Given the description of an element on the screen output the (x, y) to click on. 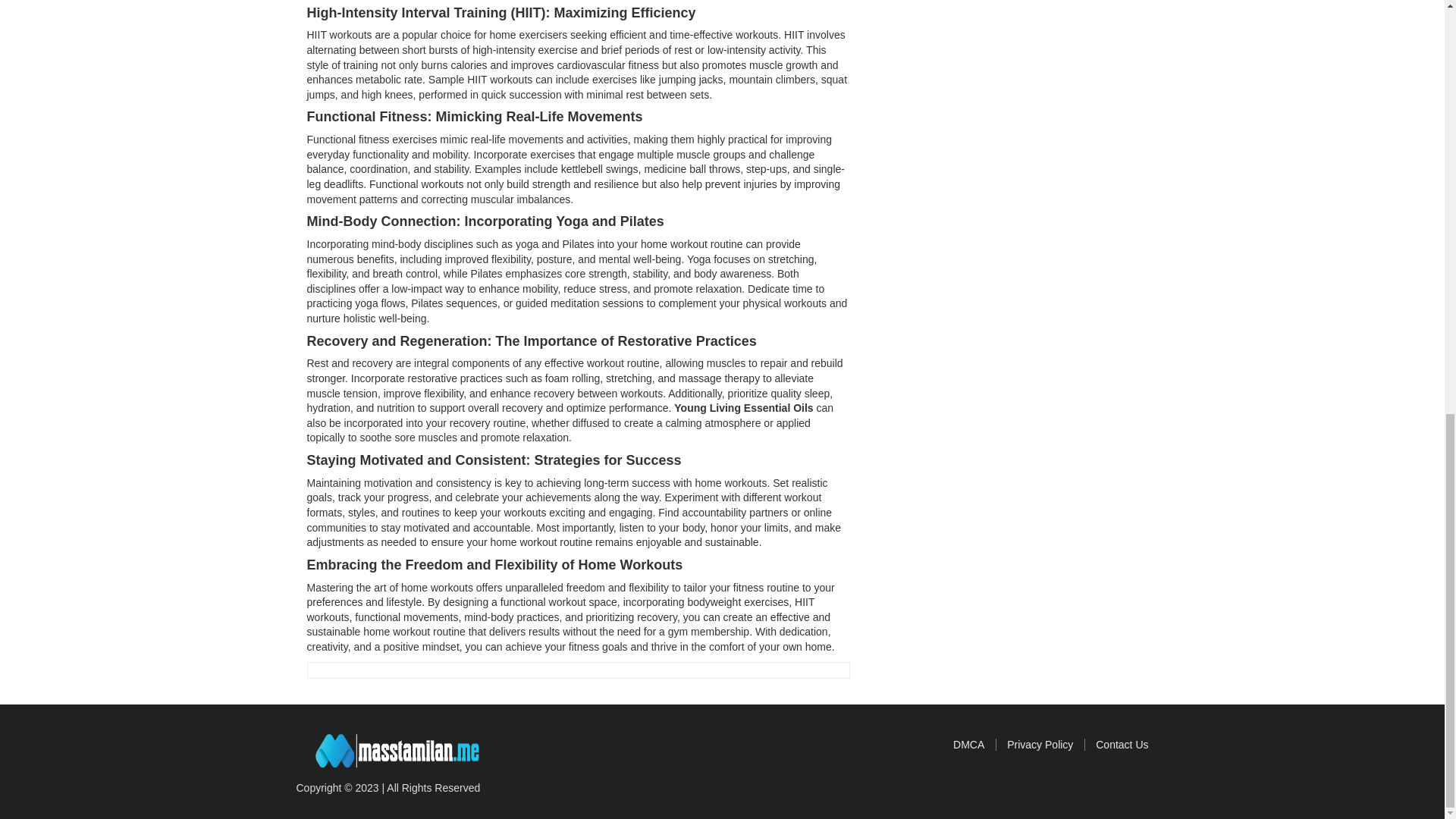
Young Living Essential Oils (743, 408)
Privacy Policy (1045, 744)
Contact Us (1122, 744)
DMCA (974, 744)
